Given the description of an element on the screen output the (x, y) to click on. 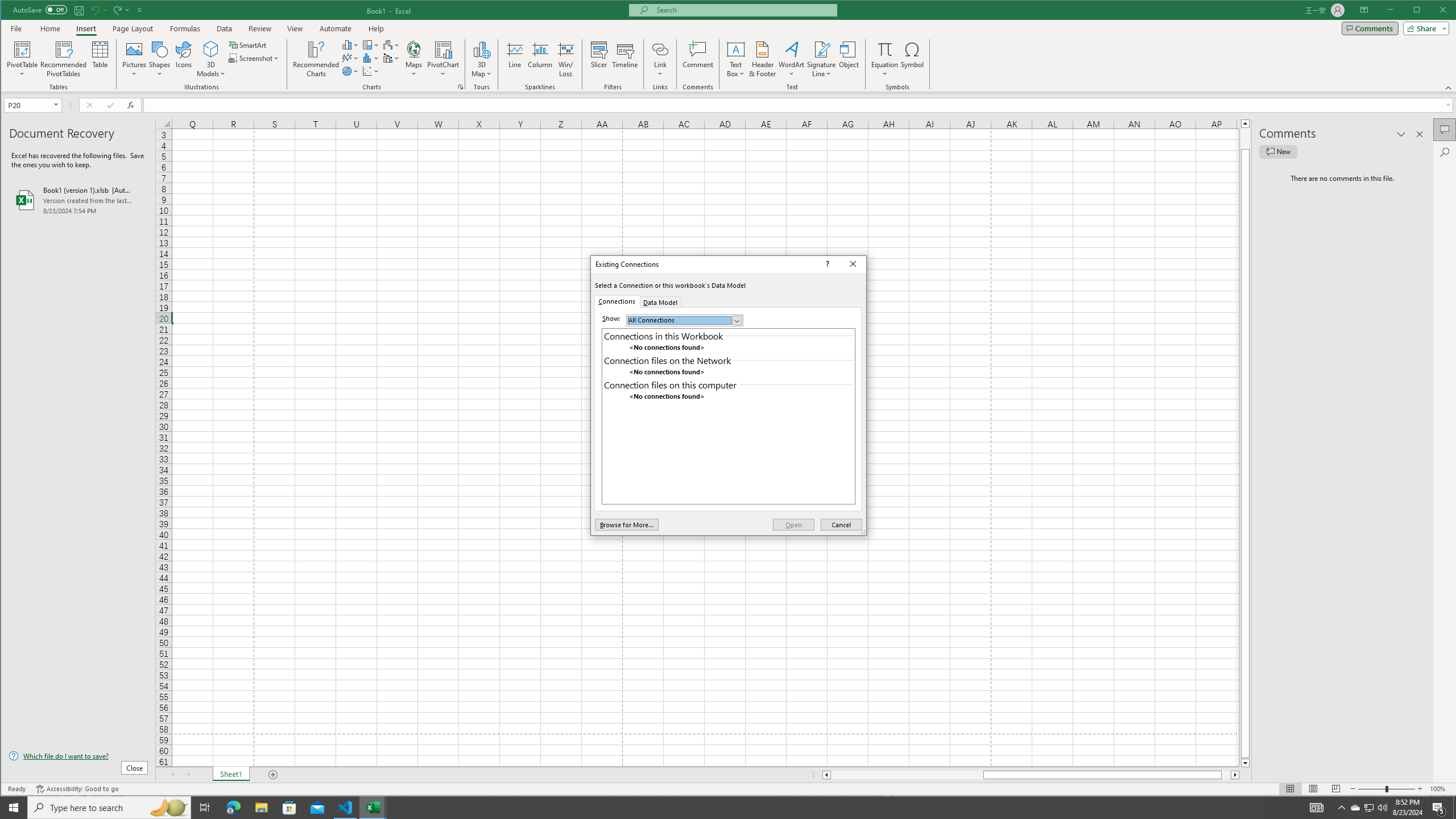
Win/Loss (565, 59)
Link (659, 59)
Icons (183, 59)
Insert Line or Area Chart (350, 57)
Text Box (735, 59)
Insert Hierarchy Chart (371, 44)
